Given the description of an element on the screen output the (x, y) to click on. 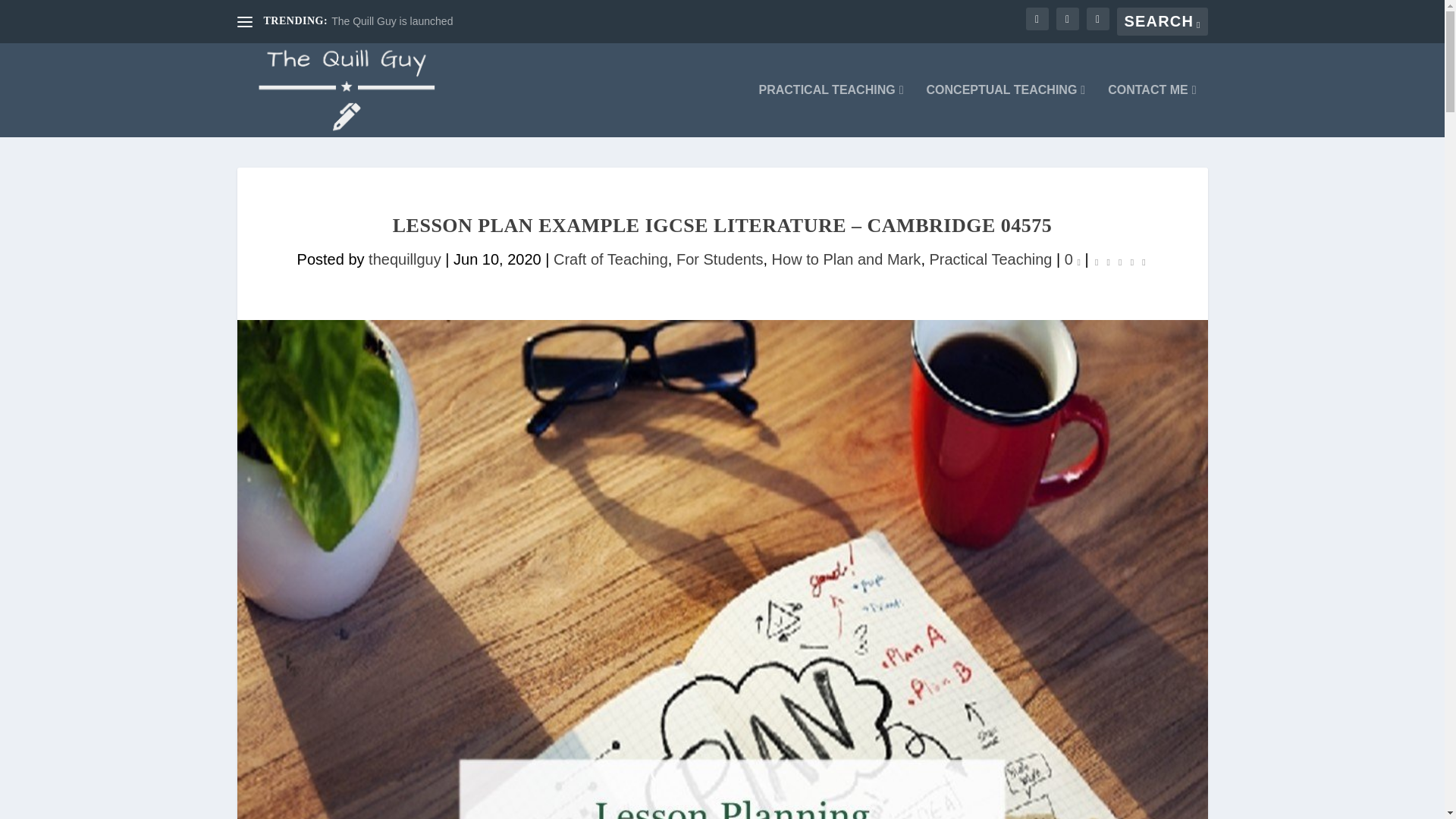
Rating: 0.00 (1120, 260)
PRACTICAL TEACHING (831, 110)
CONCEPTUAL TEACHING (1006, 110)
thequillguy (404, 258)
Posts by thequillguy (404, 258)
Search for: (1161, 21)
The Quill Guy is launched (391, 21)
CONTACT ME (1151, 110)
